Given the description of an element on the screen output the (x, y) to click on. 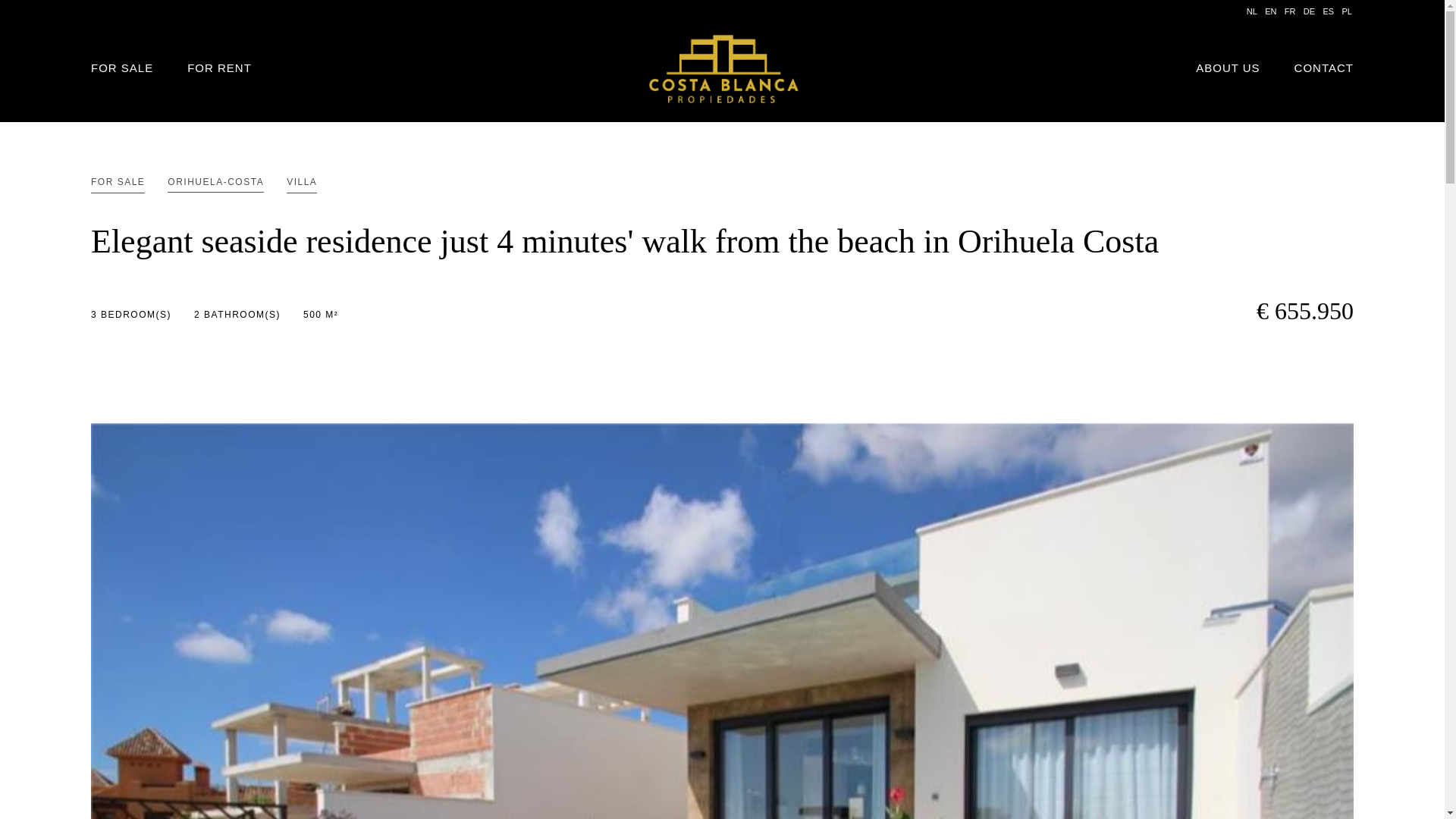
NL (1249, 11)
FR (1288, 11)
ABOUT US (1227, 68)
FOR SALE (121, 68)
DE (1308, 11)
ES (1326, 11)
FOR RENT (219, 68)
EN (1269, 11)
CONTACT (1324, 68)
PL (1345, 11)
